Given the description of an element on the screen output the (x, y) to click on. 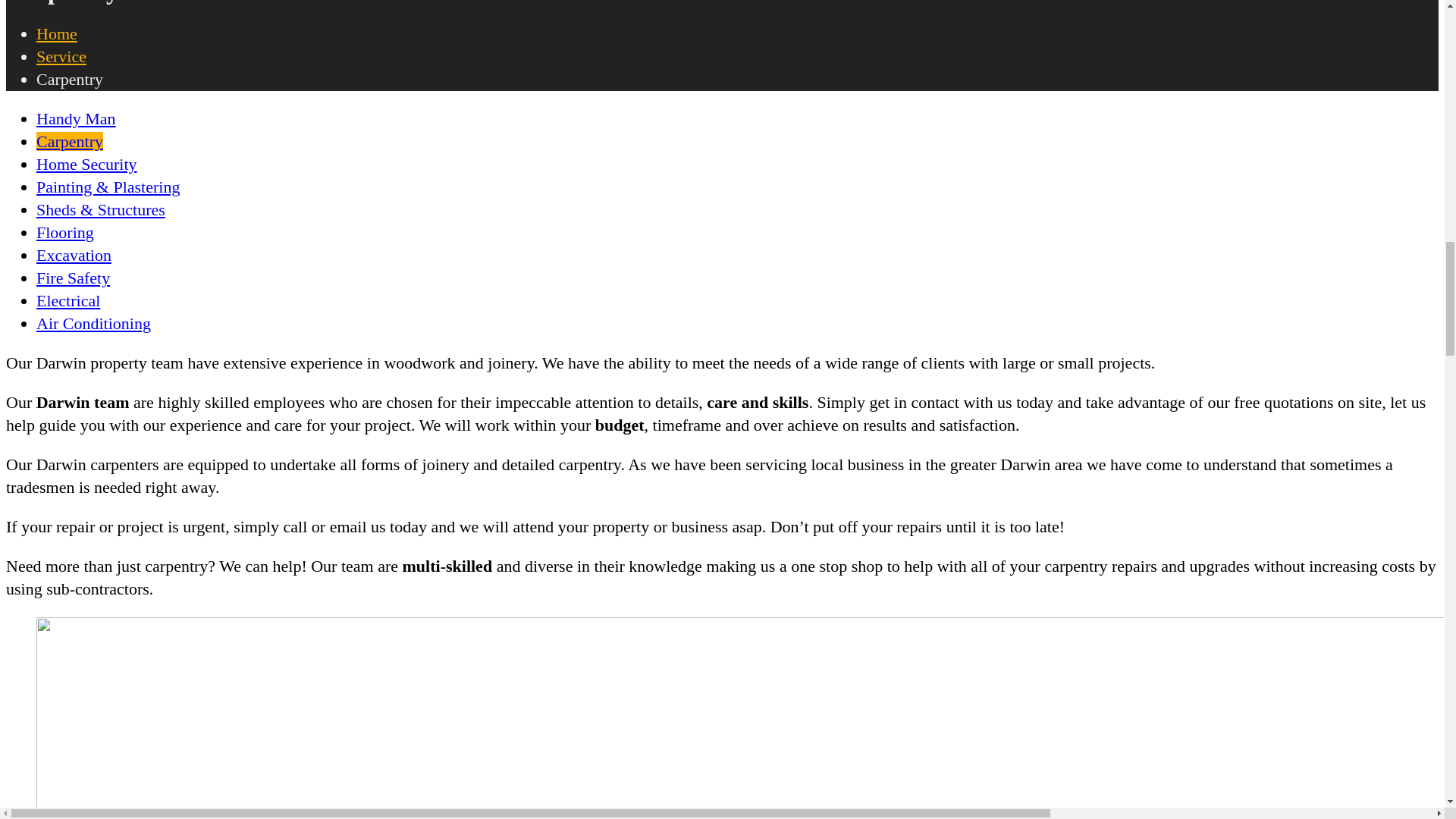
Home (56, 33)
Home Security (86, 163)
Fire Safety (73, 277)
Carpentry (69, 140)
Service (60, 56)
Excavation (74, 254)
Air Conditioning (93, 322)
Electrical (68, 300)
Handy Man (75, 117)
Flooring (65, 231)
